Given the description of an element on the screen output the (x, y) to click on. 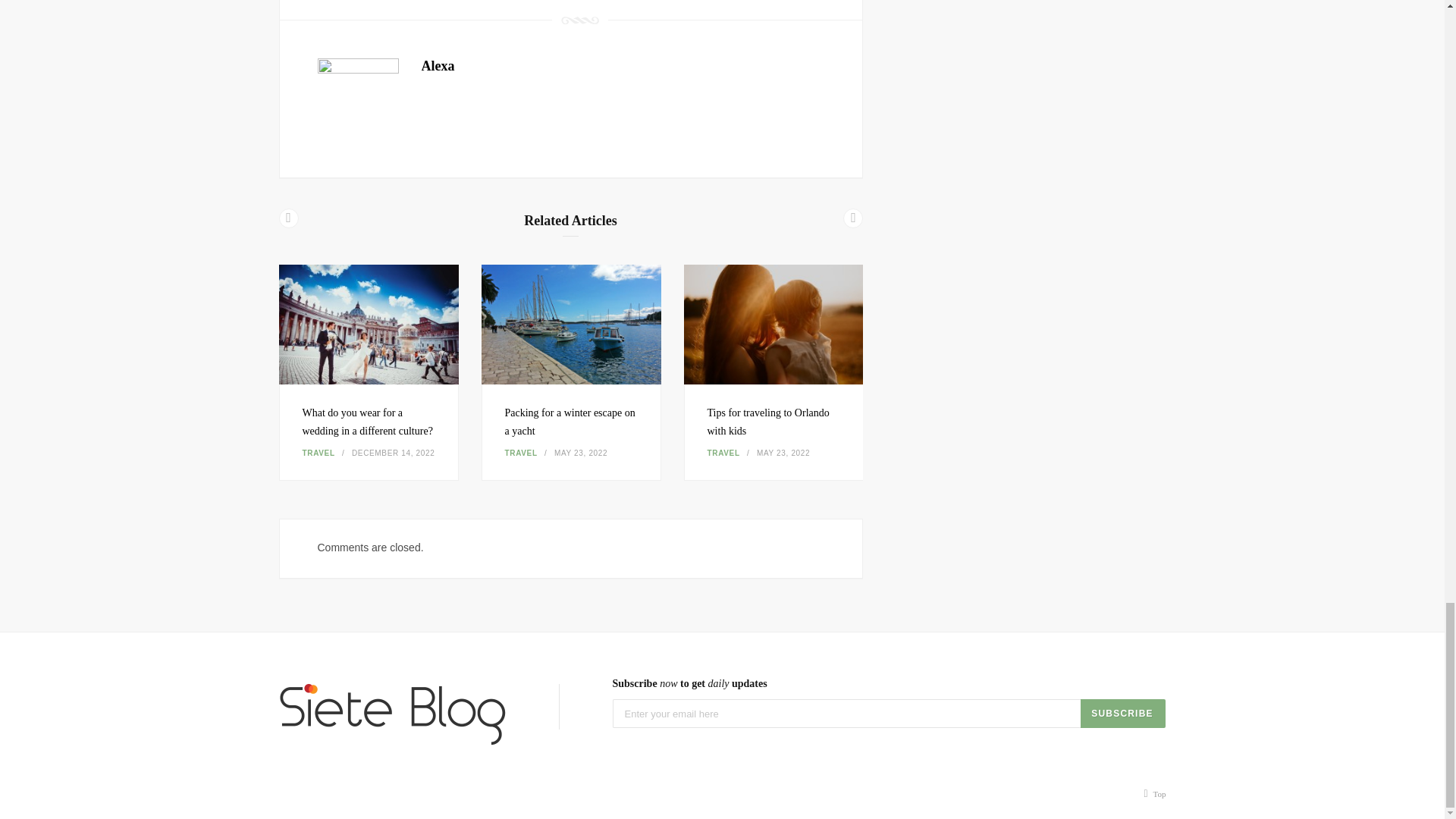
What do you wear for a wedding in a different culture? (366, 421)
Packing for a winter escape on a yacht (569, 421)
Posts by Alexa (438, 65)
TRAVEL (317, 452)
TRAVEL (521, 452)
Alexa (438, 65)
Subscribe (1123, 713)
TRAVEL (722, 452)
Tips for traveling to Orlando with kids (767, 421)
